Given the description of an element on the screen output the (x, y) to click on. 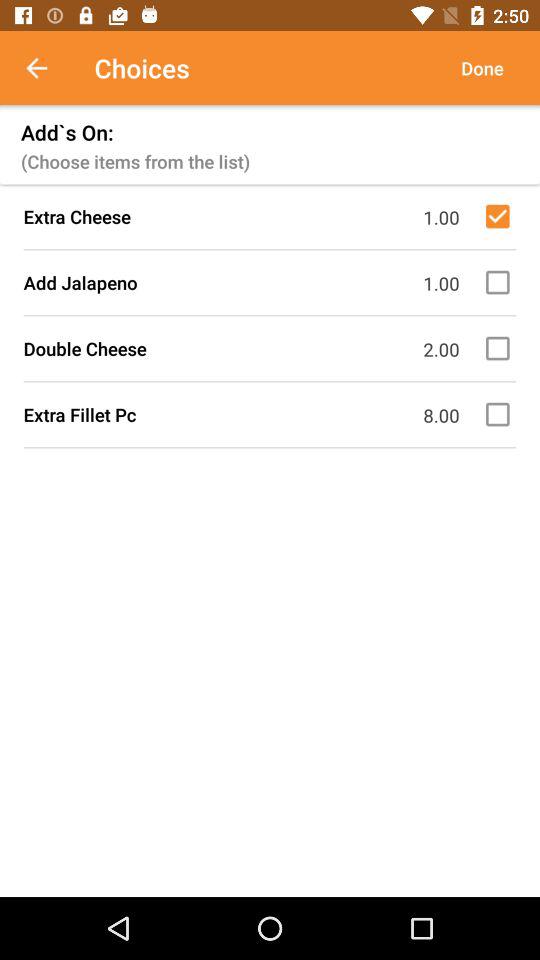
launch the done icon (482, 67)
